Given the description of an element on the screen output the (x, y) to click on. 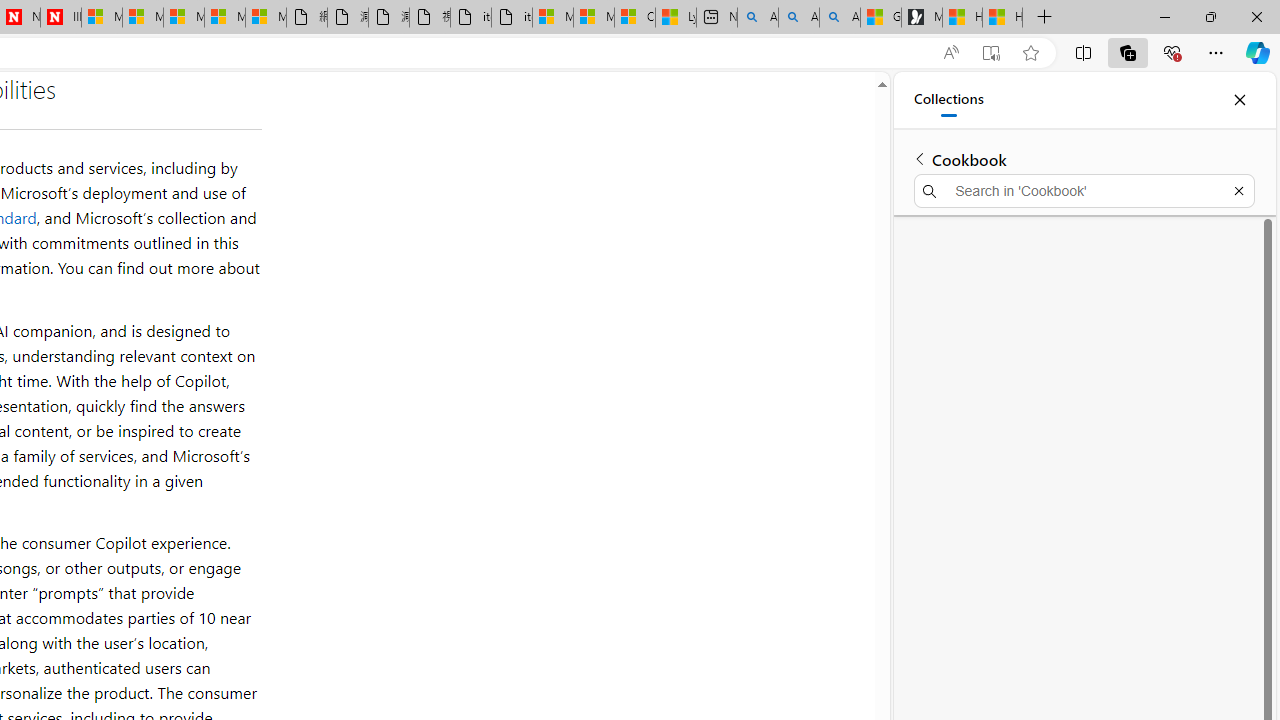
Consumer Health Data Privacy Policy (634, 17)
Back to list of collections (920, 158)
Alabama high school quarterback dies - Search Videos (840, 17)
Alabama high school quarterback dies - Search (758, 17)
